Given the description of an element on the screen output the (x, y) to click on. 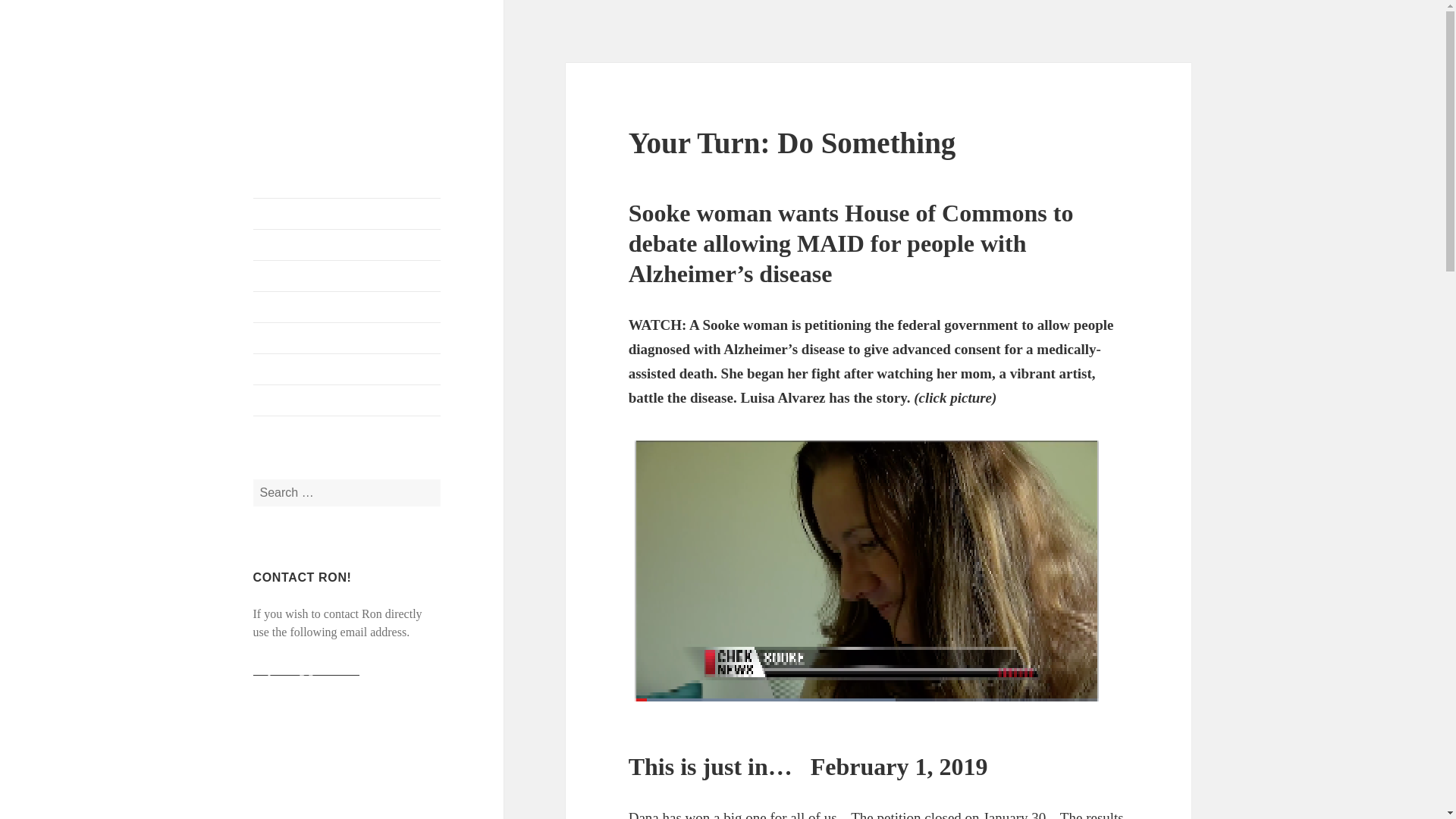
Possible Changes to MAID (347, 306)
Dementia Helpers (347, 276)
Privacy Policy (347, 399)
MAID Issues (347, 337)
Ron Posno's Dementia (315, 86)
Serenity Prayer (347, 368)
About Ron Posno (347, 214)
